Given the description of an element on the screen output the (x, y) to click on. 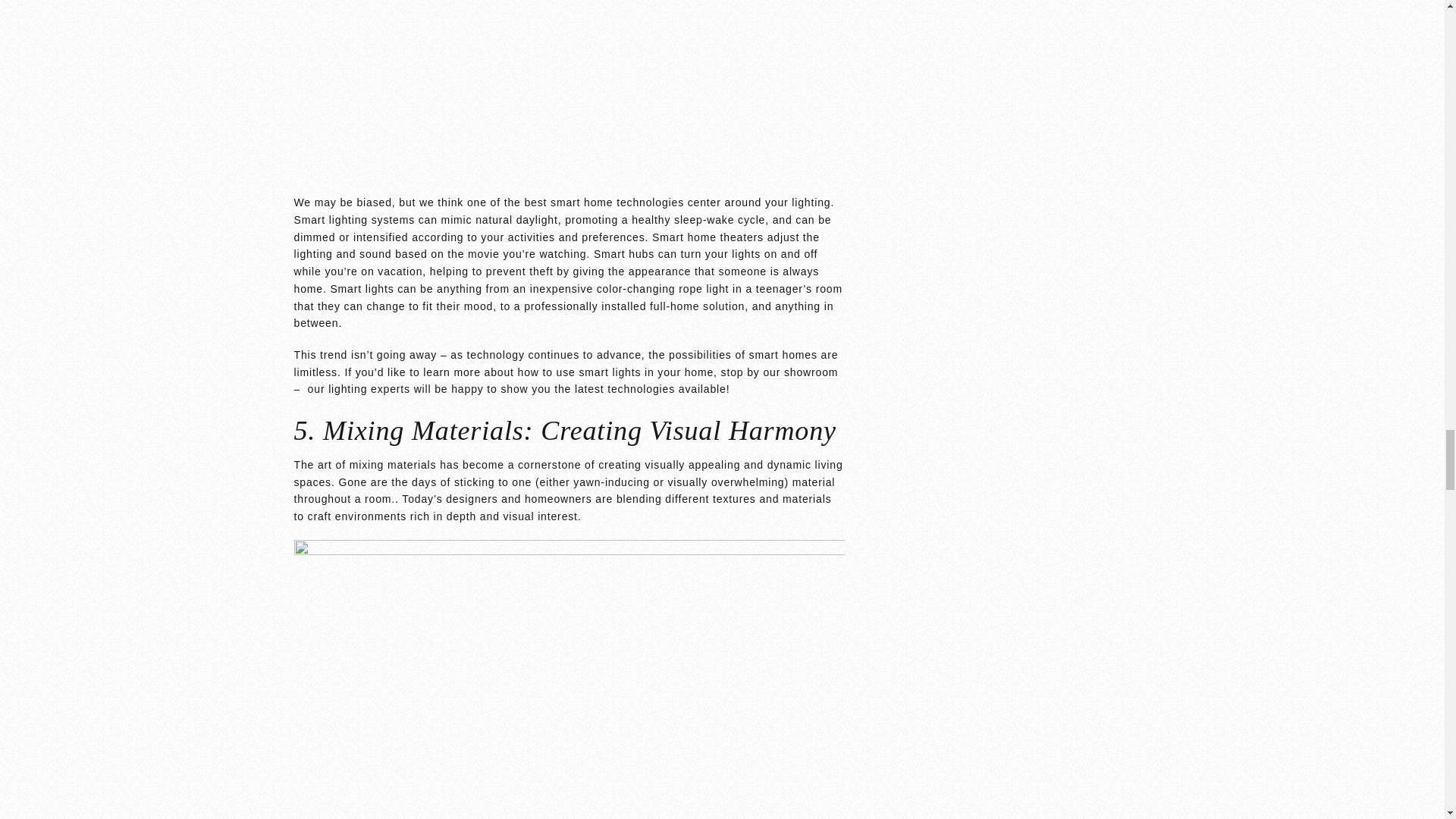
stop by our showroom (779, 372)
